Given the description of an element on the screen output the (x, y) to click on. 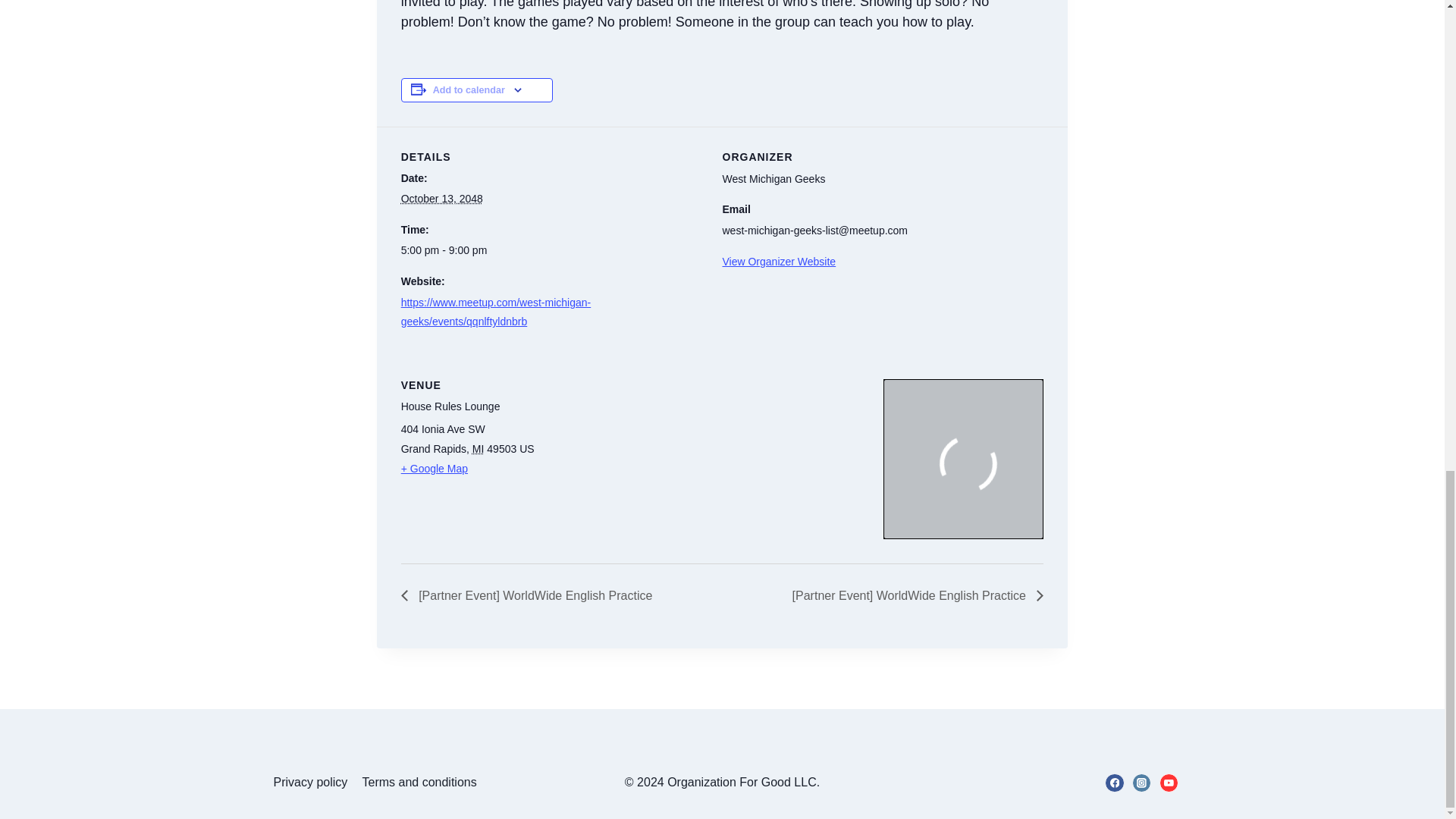
Michigan (477, 449)
View Organizer Website (778, 261)
2048-10-13 (552, 250)
2048-10-13 (442, 198)
Click to view a Google Map (633, 468)
Terms and conditions (419, 782)
Add to calendar (468, 90)
Privacy policy (310, 782)
